Given the description of an element on the screen output the (x, y) to click on. 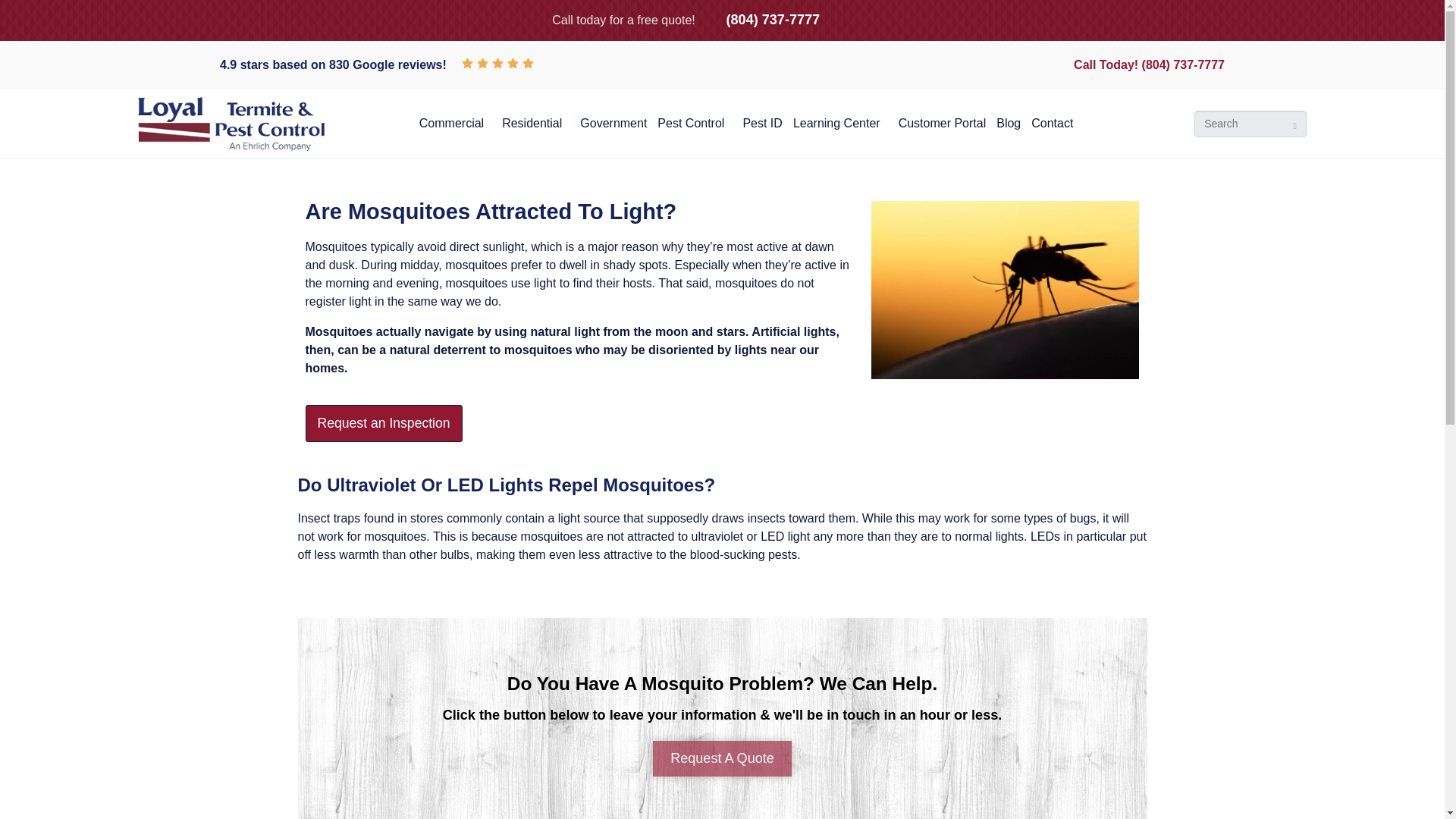
Pest ID (761, 123)
Customer Portal (942, 123)
Pest Control (694, 123)
Government (613, 123)
Commercial (454, 123)
Learning Center (840, 123)
4.9 stars based on 830 Google reviews! (332, 64)
Residential (535, 123)
